Given the description of an element on the screen output the (x, y) to click on. 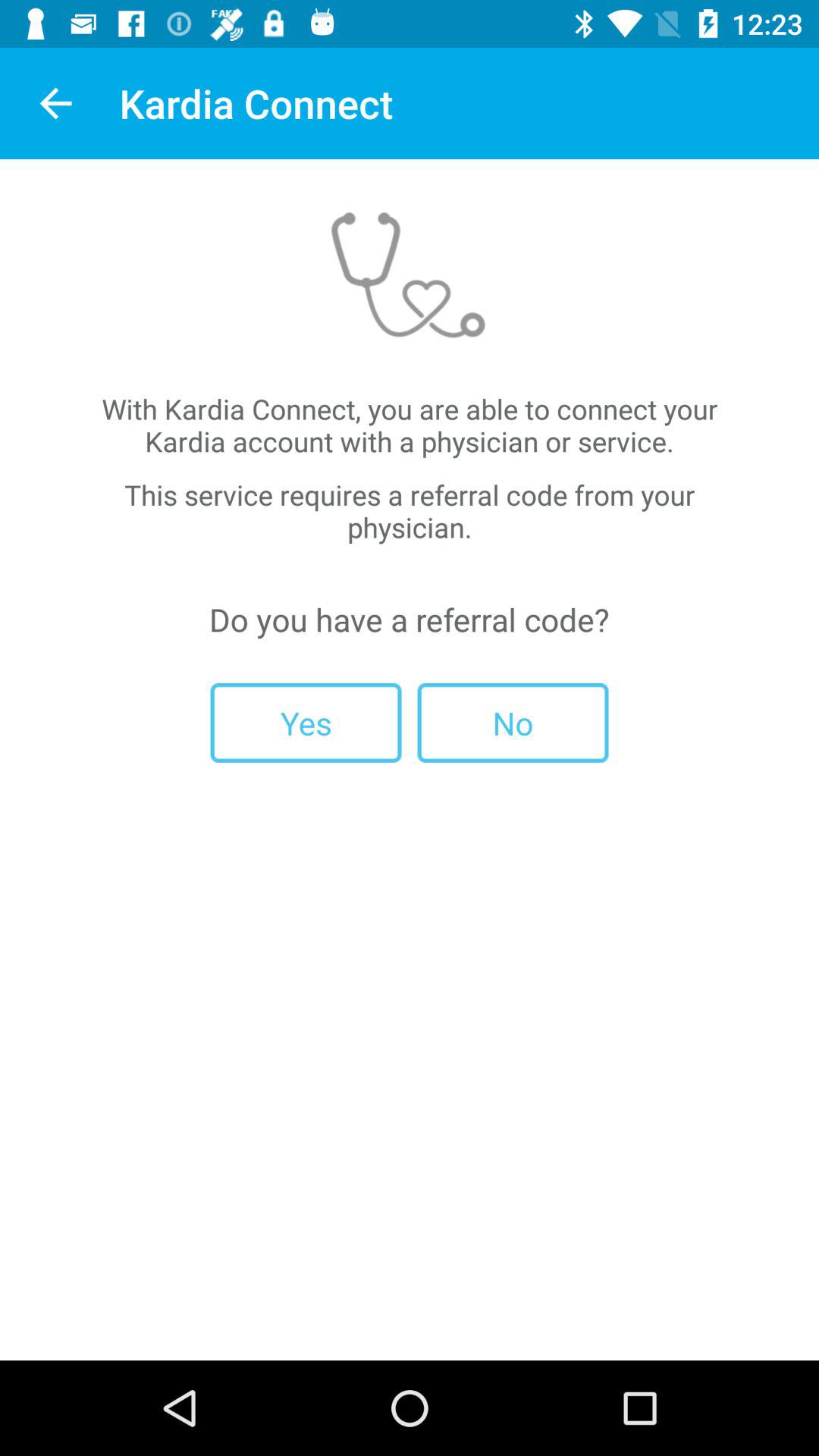
open item next to kardia connect (55, 103)
